Given the description of an element on the screen output the (x, y) to click on. 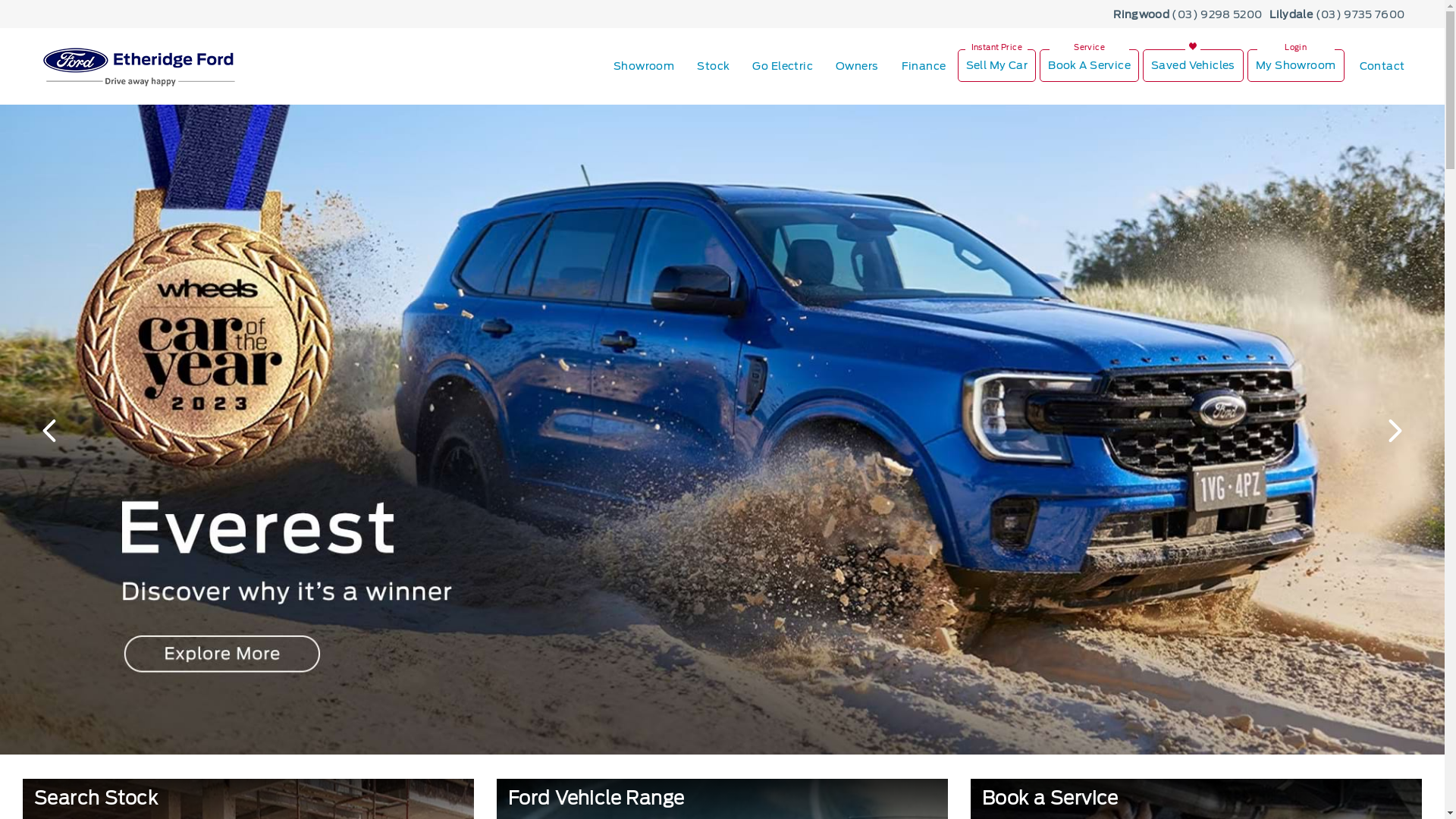
Book A Service Element type: text (1089, 65)
My Showroom Element type: text (1295, 65)
(03) 9298 5200 Element type: text (1216, 14)
Lilydale Element type: text (1290, 14)
Contact Element type: text (1376, 66)
Go Electric Element type: text (782, 66)
Saved Vehicles Element type: text (1192, 65)
Finance Element type: text (923, 66)
(03) 9735 7600 Element type: text (1360, 14)
Stock Element type: text (712, 66)
Showroom Element type: text (643, 66)
Ringwood Element type: text (1141, 14)
Owners Element type: text (857, 66)
Sell My Car Element type: text (996, 65)
